Given the description of an element on the screen output the (x, y) to click on. 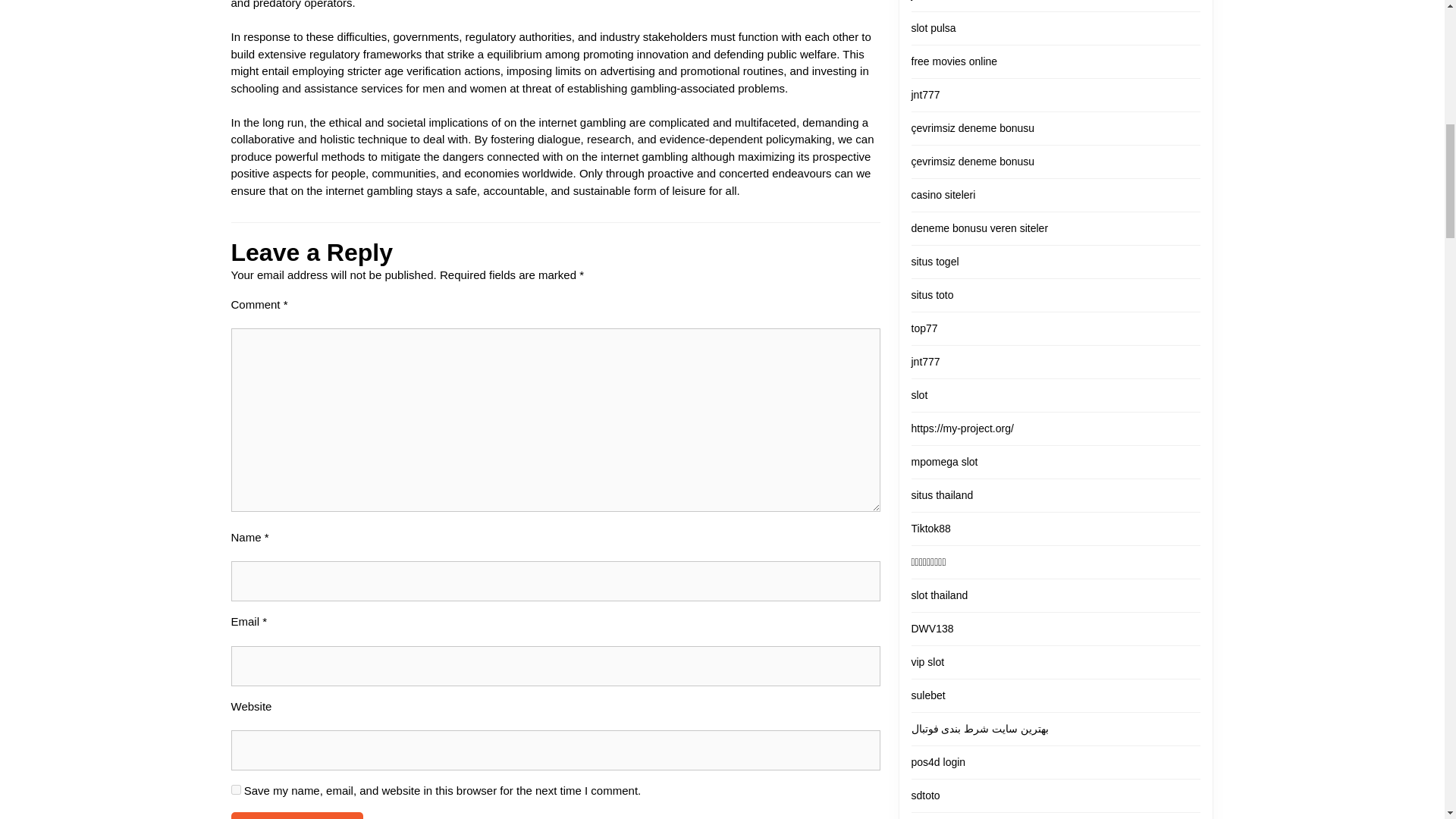
Post Comment (296, 815)
yes (235, 789)
Post Comment (296, 815)
